Given the description of an element on the screen output the (x, y) to click on. 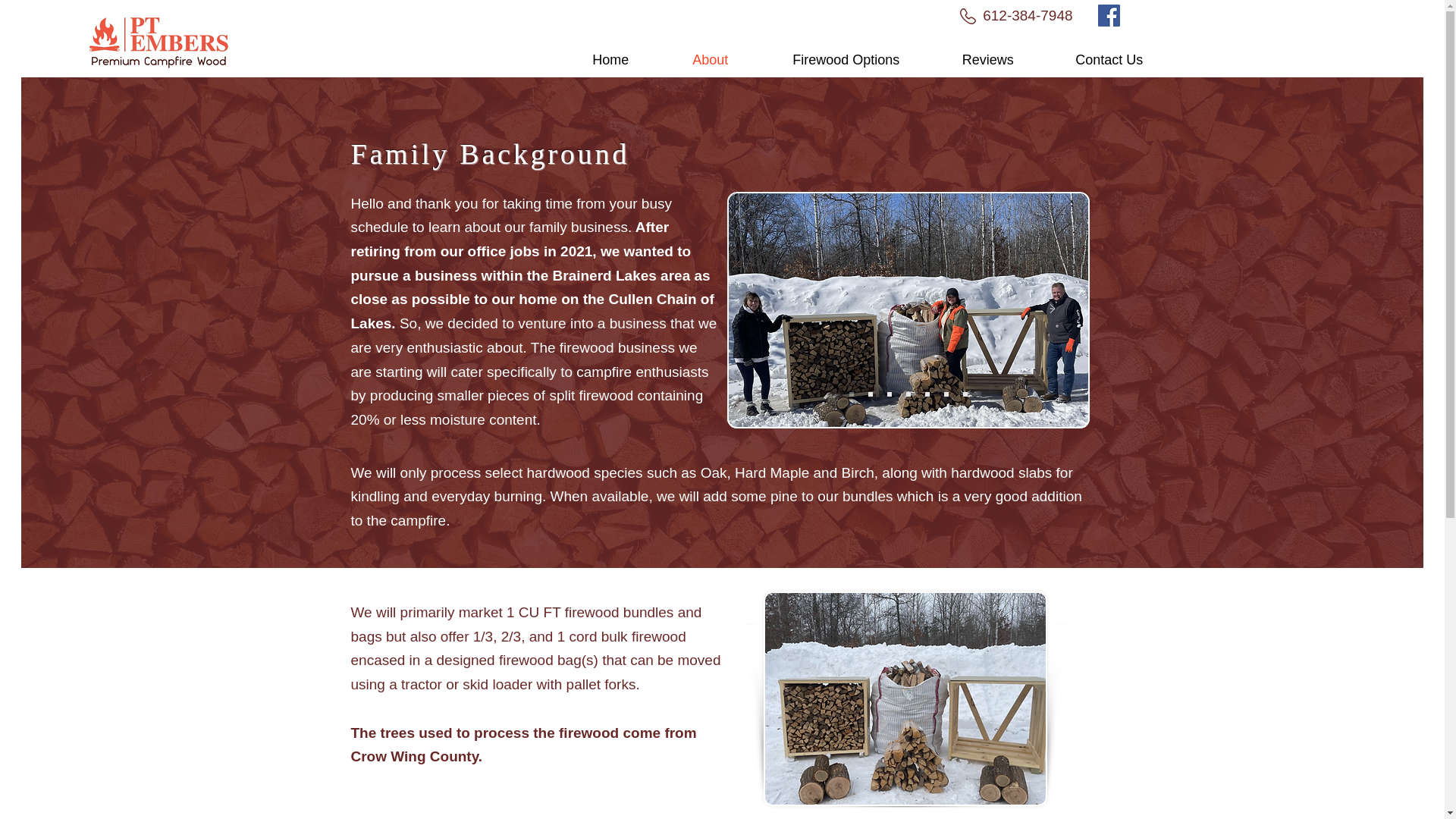
Firewood Options (845, 59)
About (710, 59)
Home (610, 59)
612-384-7948 (1026, 15)
Contact Us (1108, 59)
Reviews (987, 59)
